Given the description of an element on the screen output the (x, y) to click on. 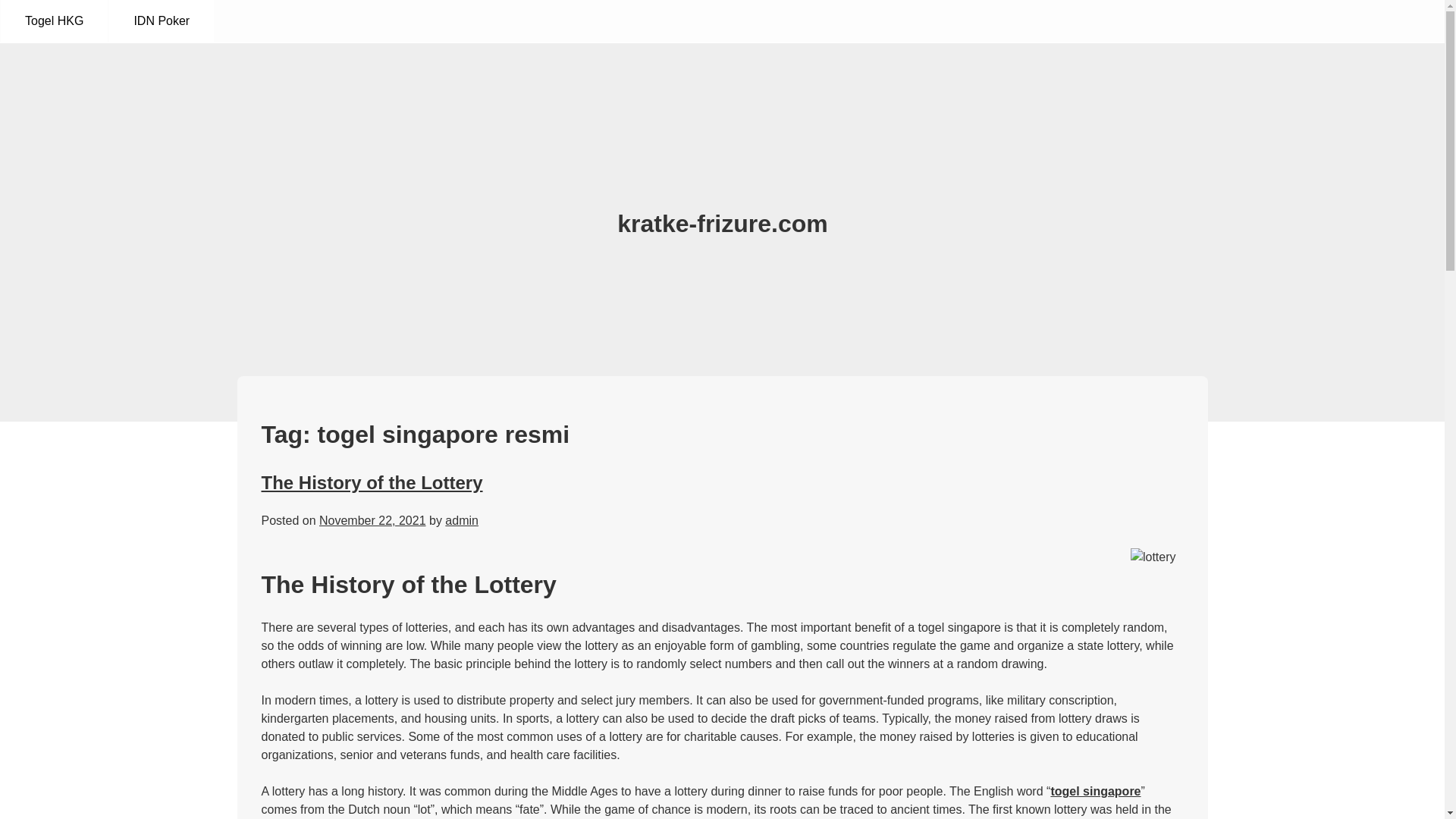
admin (462, 520)
Togel HKG (54, 21)
IDN Poker (161, 21)
togel singapore (1094, 790)
The History of the Lottery (370, 482)
November 22, 2021 (372, 520)
